Given the description of an element on the screen output the (x, y) to click on. 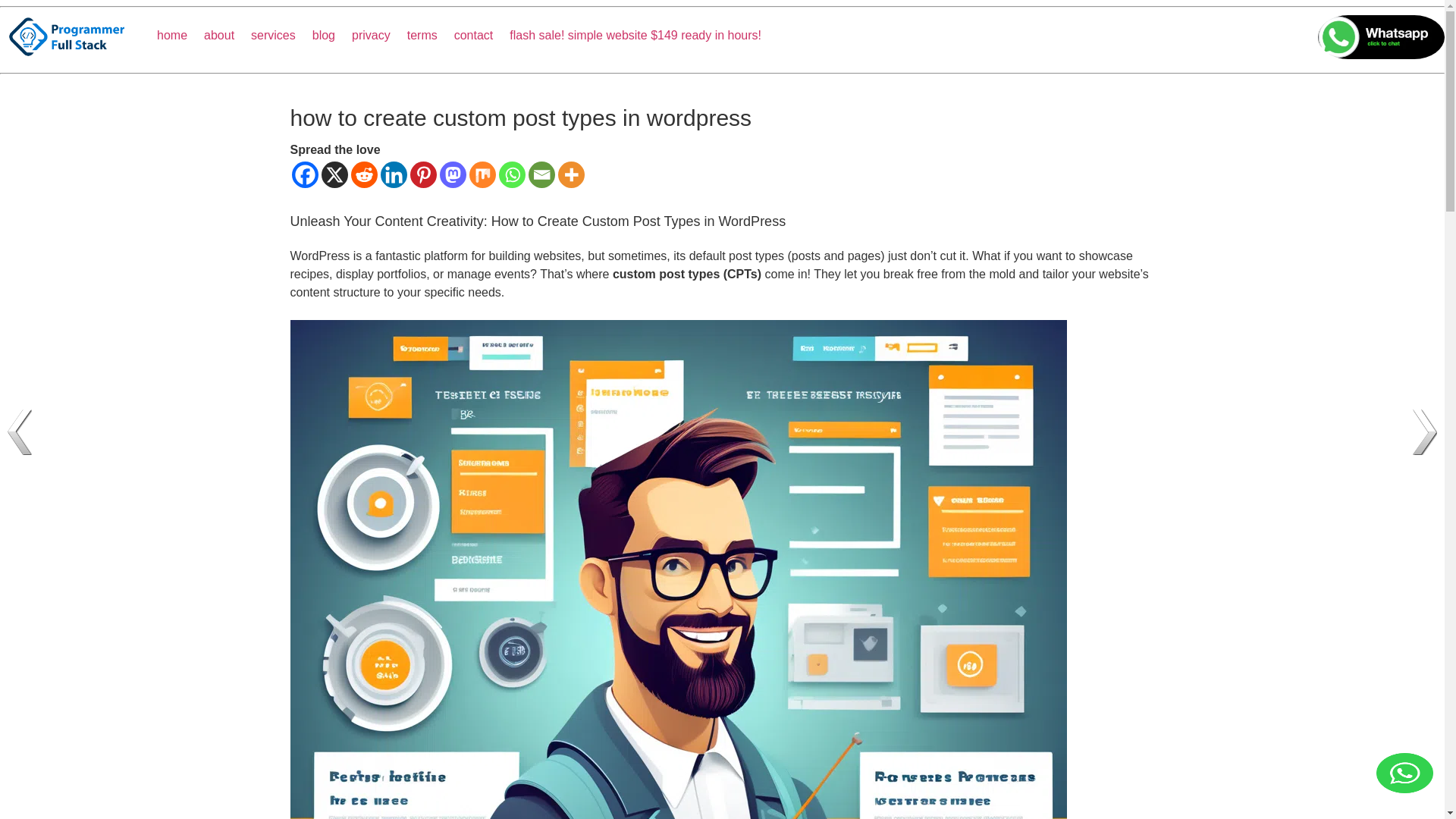
contact (482, 35)
Privacy - Full stack wordpress programmer (379, 35)
Full stack wordpress programmer (78, 36)
Contact - Full stack wordpress programmer (482, 35)
about (226, 35)
Facebook (304, 174)
services (281, 35)
blog (332, 35)
terms (430, 35)
